Given the description of an element on the screen output the (x, y) to click on. 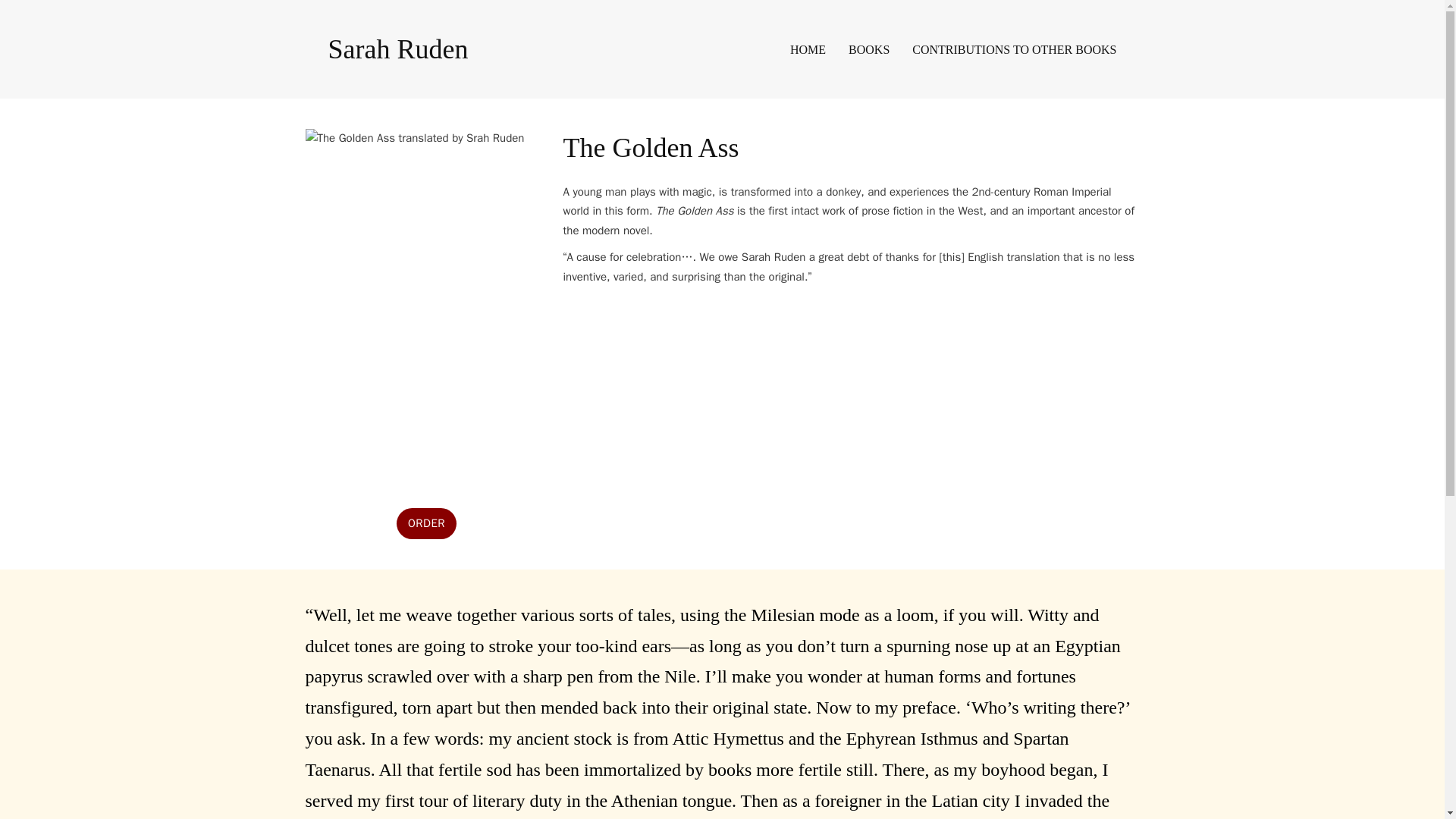
BOOKS (868, 49)
HOME (807, 49)
Sarah Ruden (397, 49)
CONTRIBUTIONS TO OTHER BOOKS (1014, 49)
